Given the description of an element on the screen output the (x, y) to click on. 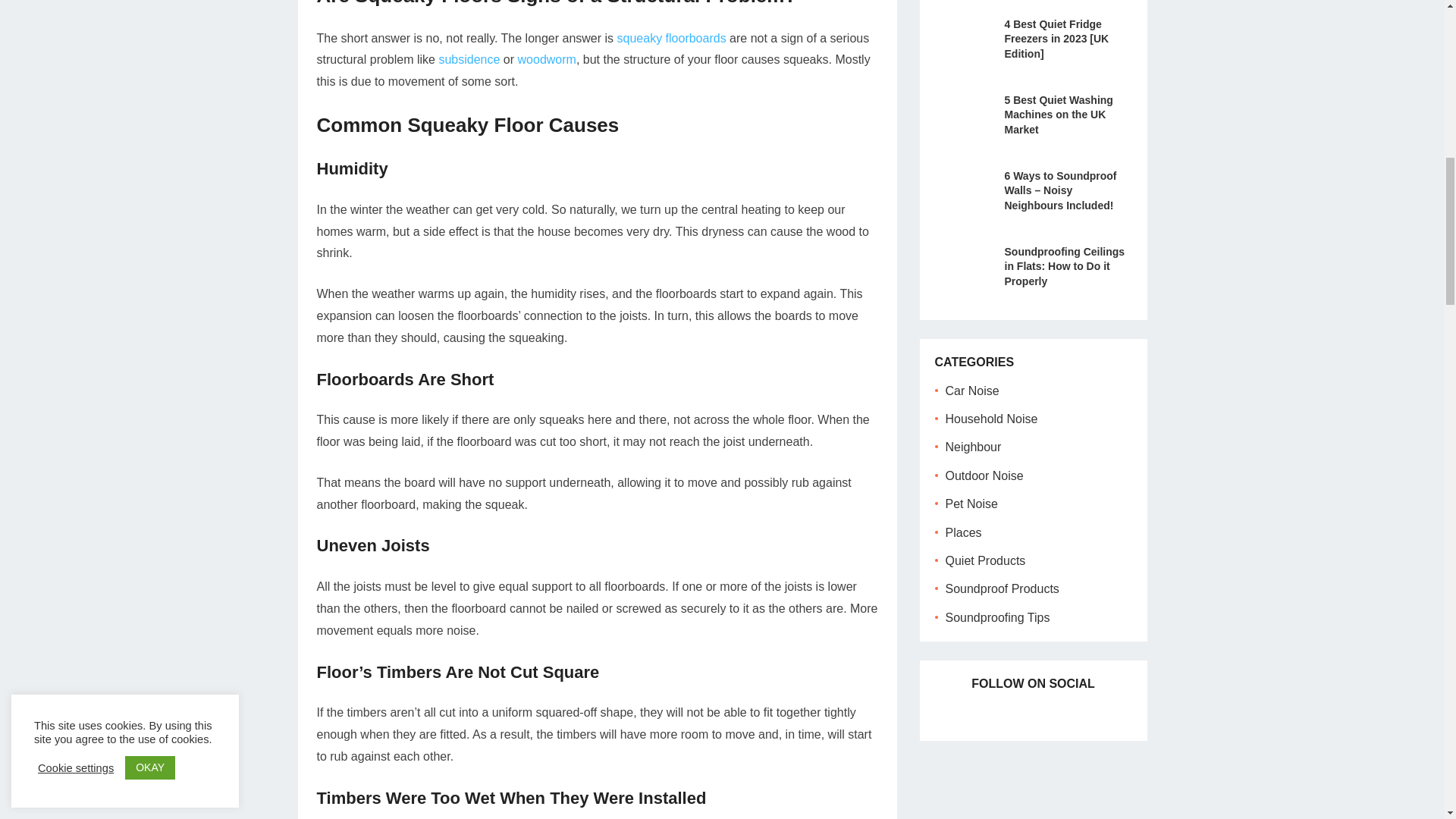
squeaky floorboards (671, 38)
